Given the description of an element on the screen output the (x, y) to click on. 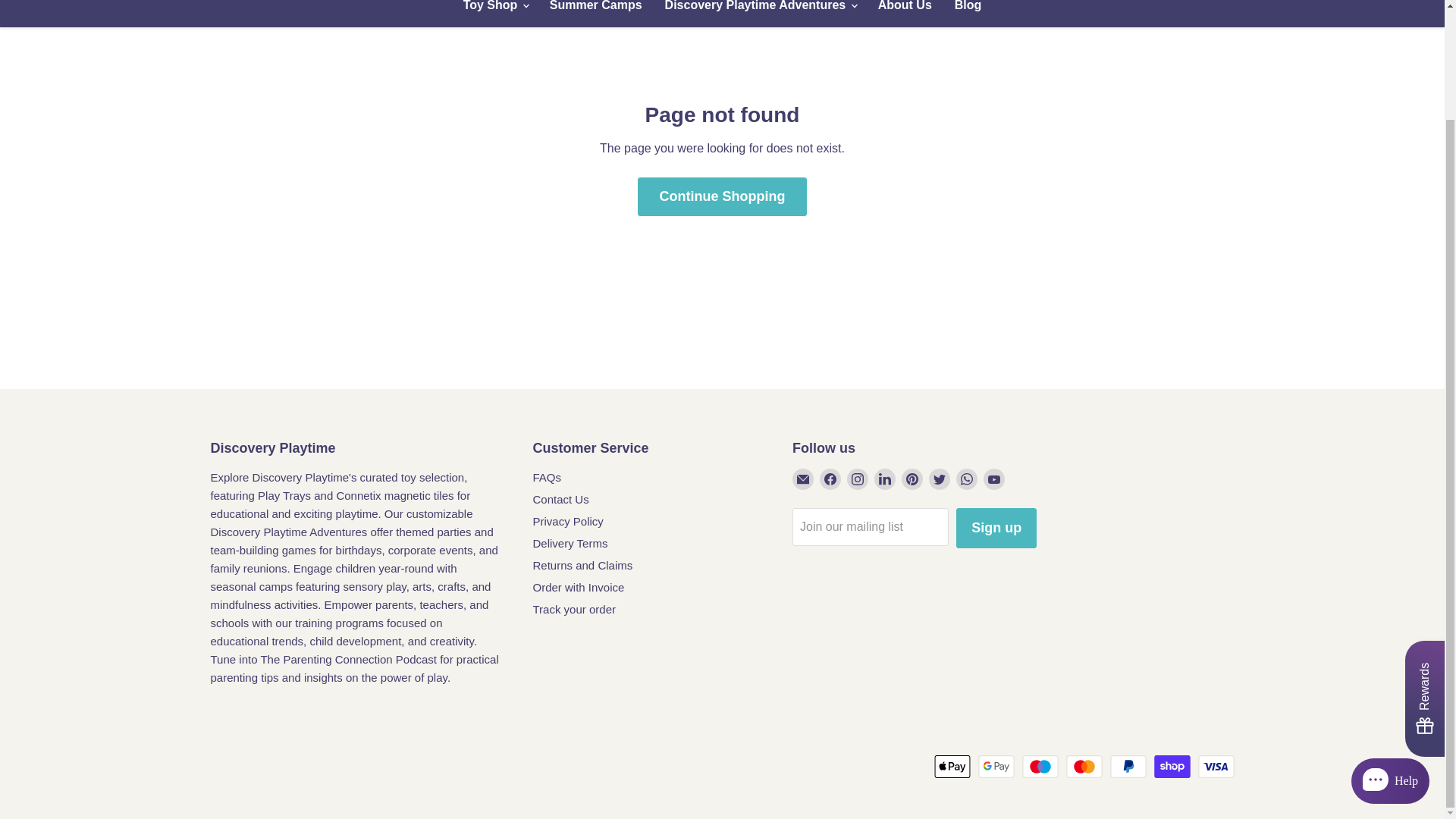
About Us (904, 10)
YouTube (994, 478)
Pinterest (912, 478)
WhatsApp (966, 478)
Blog (967, 10)
Facebook (830, 478)
Instagram (857, 478)
Summer Camps (595, 10)
Twitter (939, 478)
LinkedIn (885, 478)
Email (802, 478)
